Given the description of an element on the screen output the (x, y) to click on. 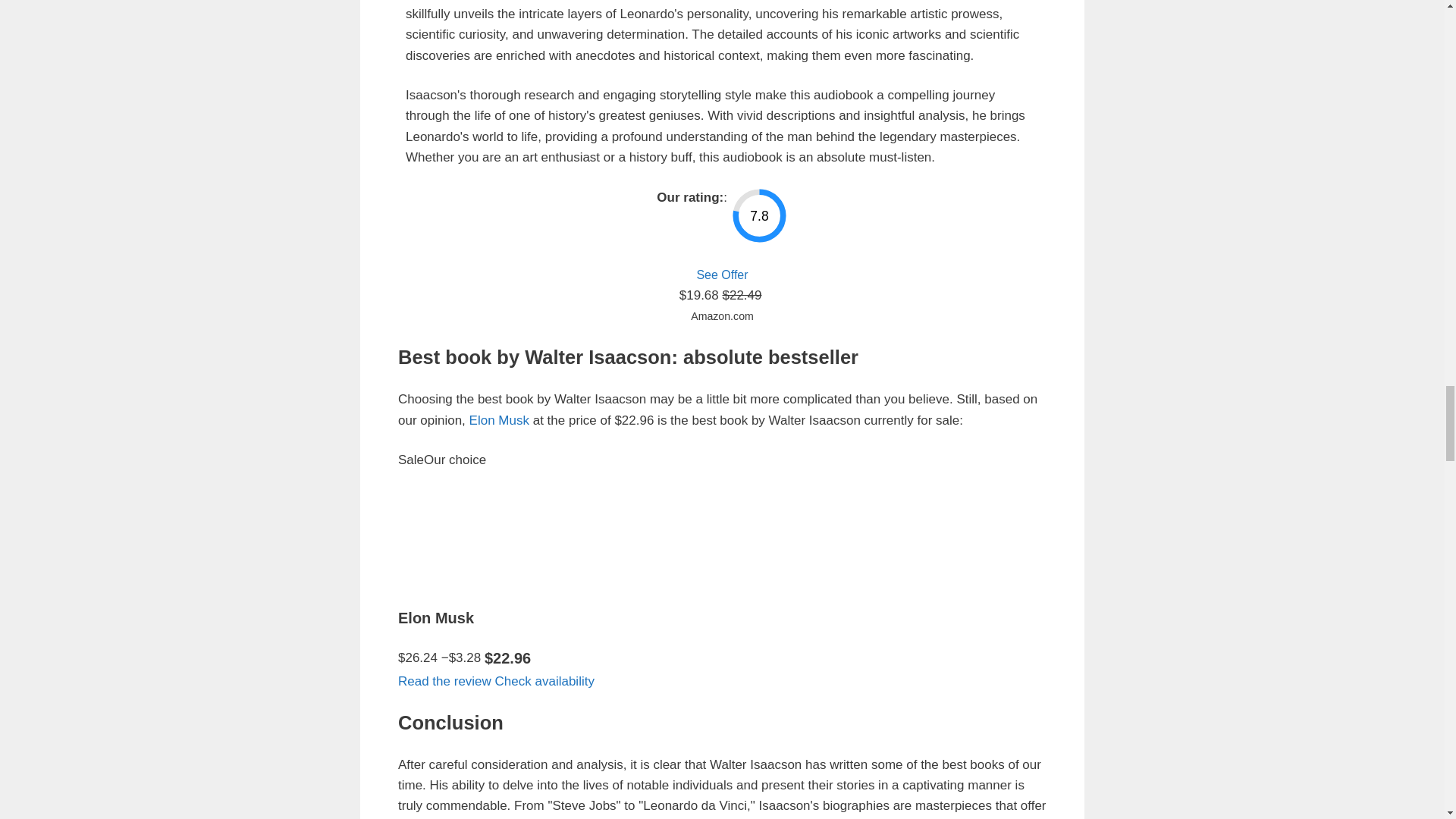
7.8 (758, 214)
